Given the description of an element on the screen output the (x, y) to click on. 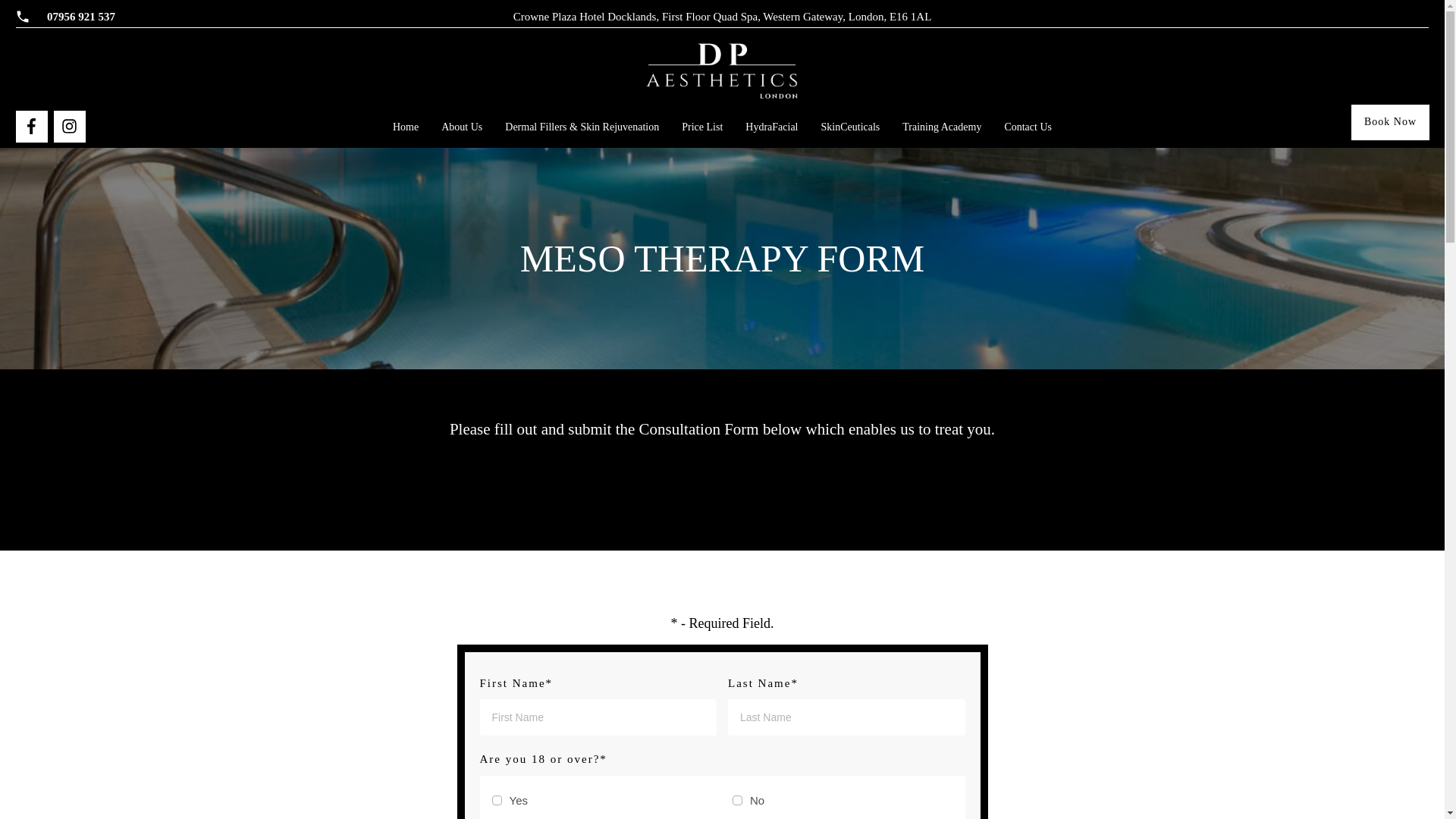
Book Now (1390, 122)
Contact Us (1027, 127)
Home (406, 127)
Price List (701, 127)
Training Academy (941, 127)
HydraFacial (771, 127)
SkinCeuticals (850, 127)
07956 921 537 (80, 16)
About Us (461, 127)
